Given the description of an element on the screen output the (x, y) to click on. 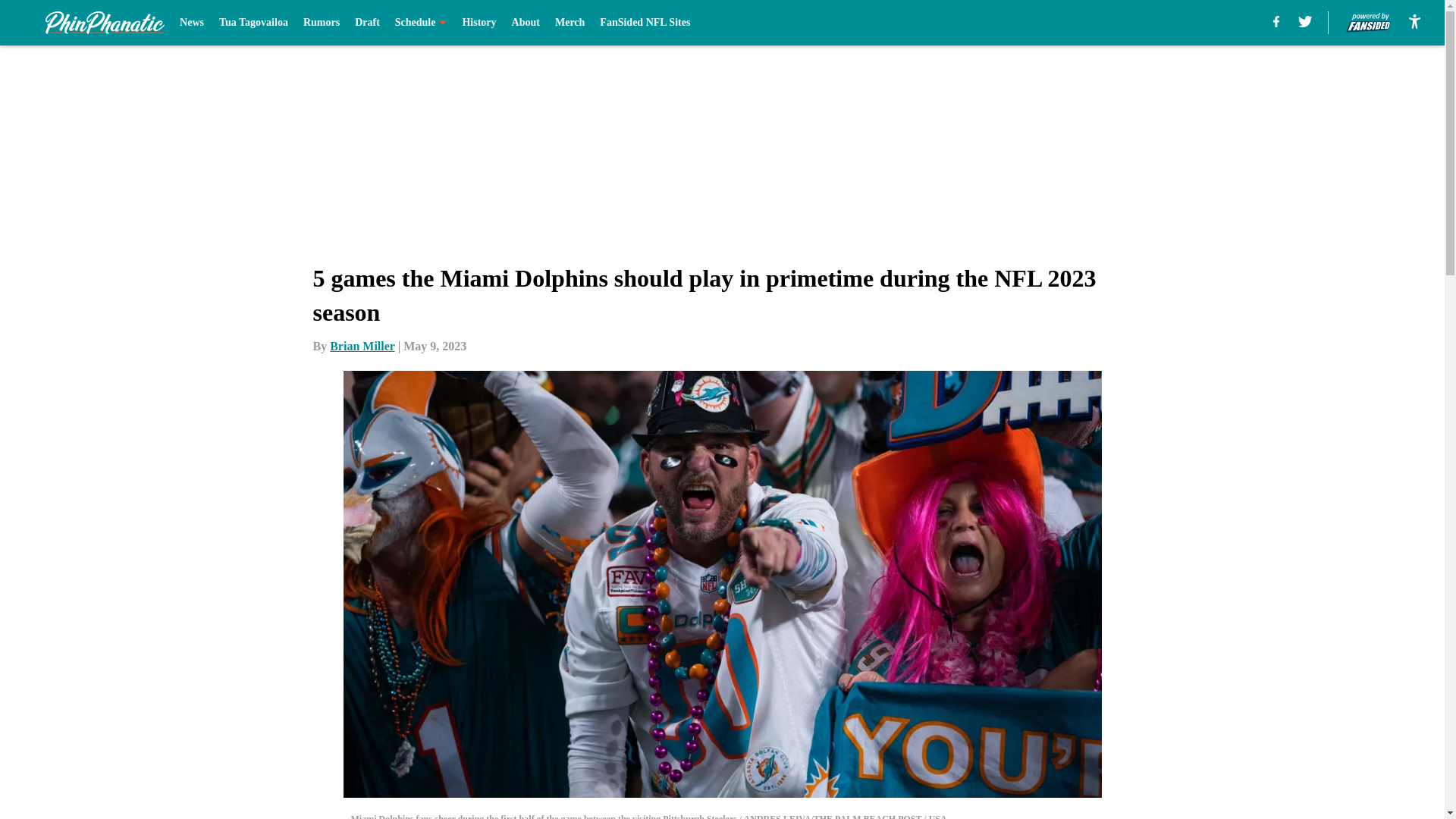
About (526, 22)
News (191, 22)
Draft (367, 22)
History (478, 22)
FanSided NFL Sites (644, 22)
Tua Tagovailoa (253, 22)
Merch (569, 22)
Rumors (320, 22)
Brian Miller (362, 345)
